Given the description of an element on the screen output the (x, y) to click on. 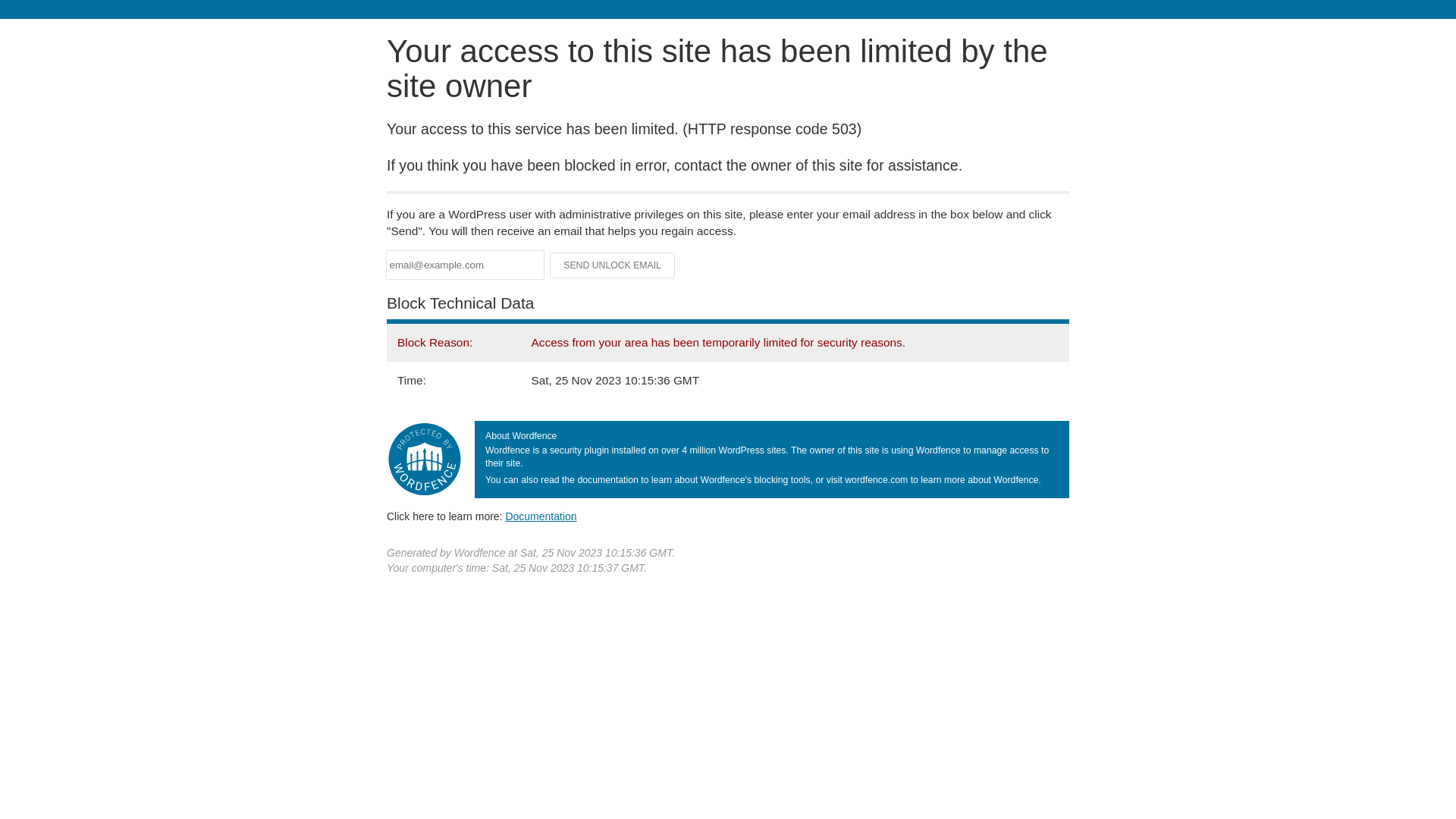
Send Unlock Email Element type: text (612, 265)
Documentation Element type: text (540, 516)
